Given the description of an element on the screen output the (x, y) to click on. 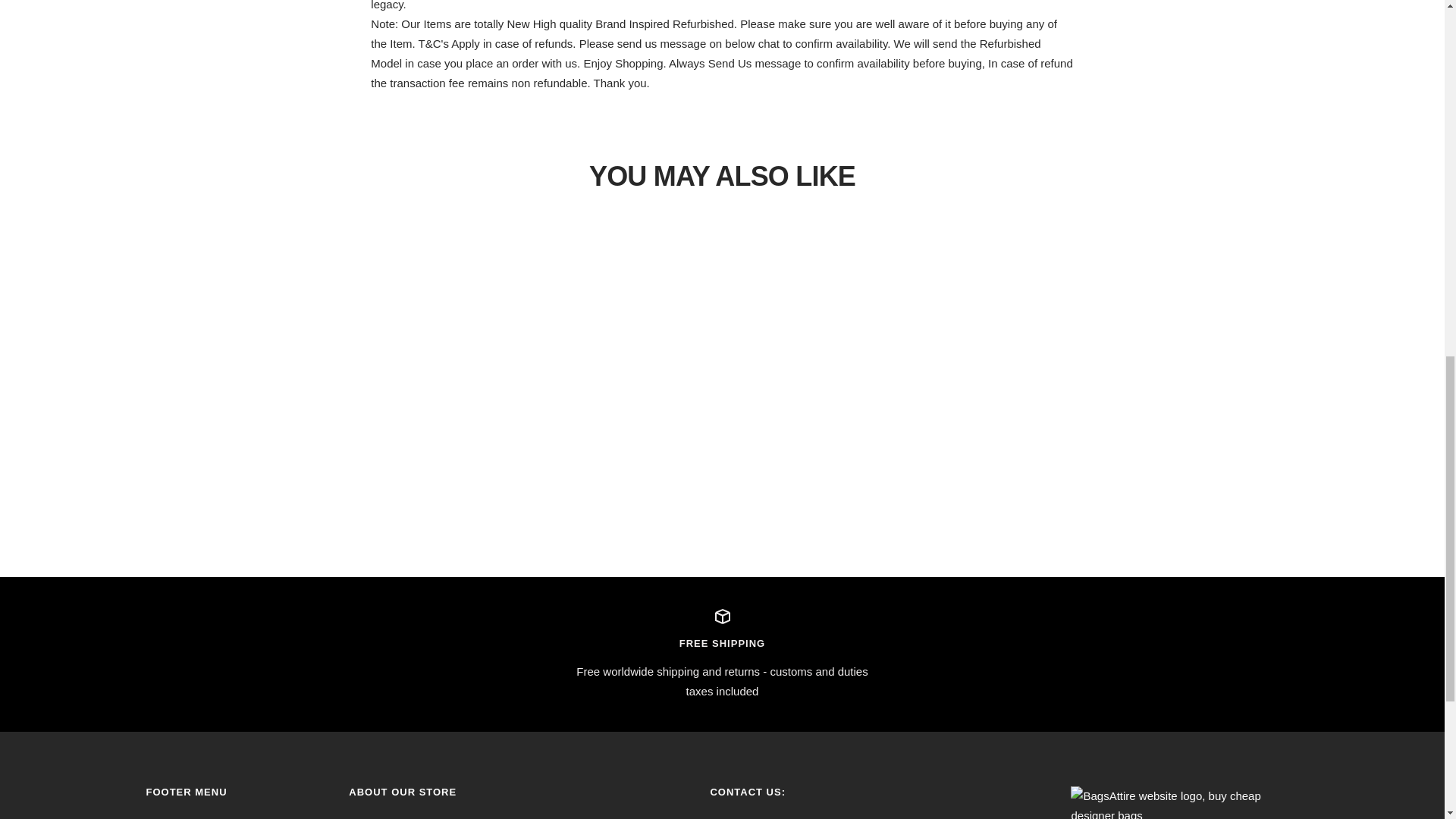
US (1127, 16)
